Given the description of an element on the screen output the (x, y) to click on. 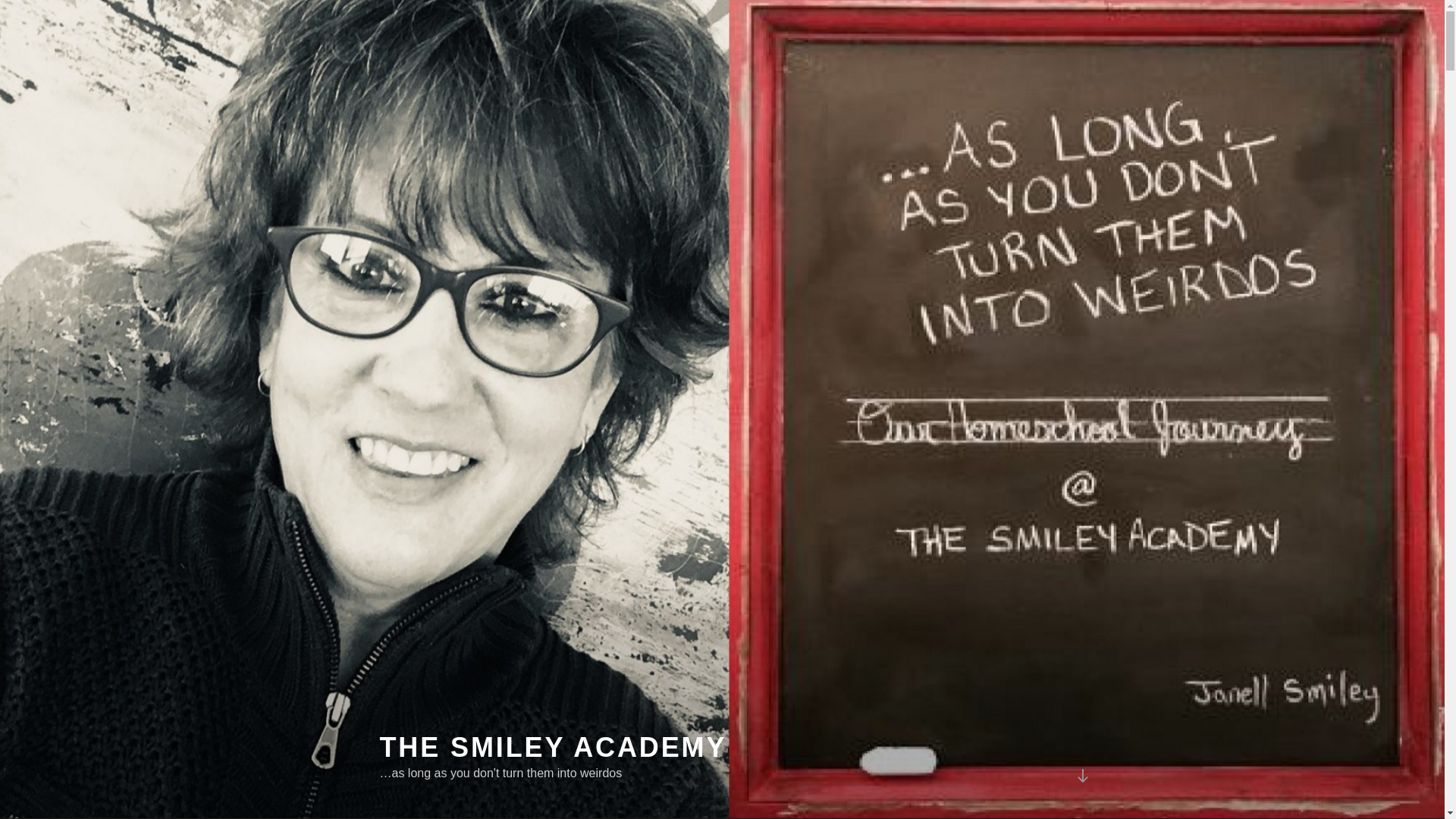
Scroll down to content (1081, 775)
THE SMILEY ACADEMY (552, 747)
Scroll down to content (1081, 775)
